Given the description of an element on the screen output the (x, y) to click on. 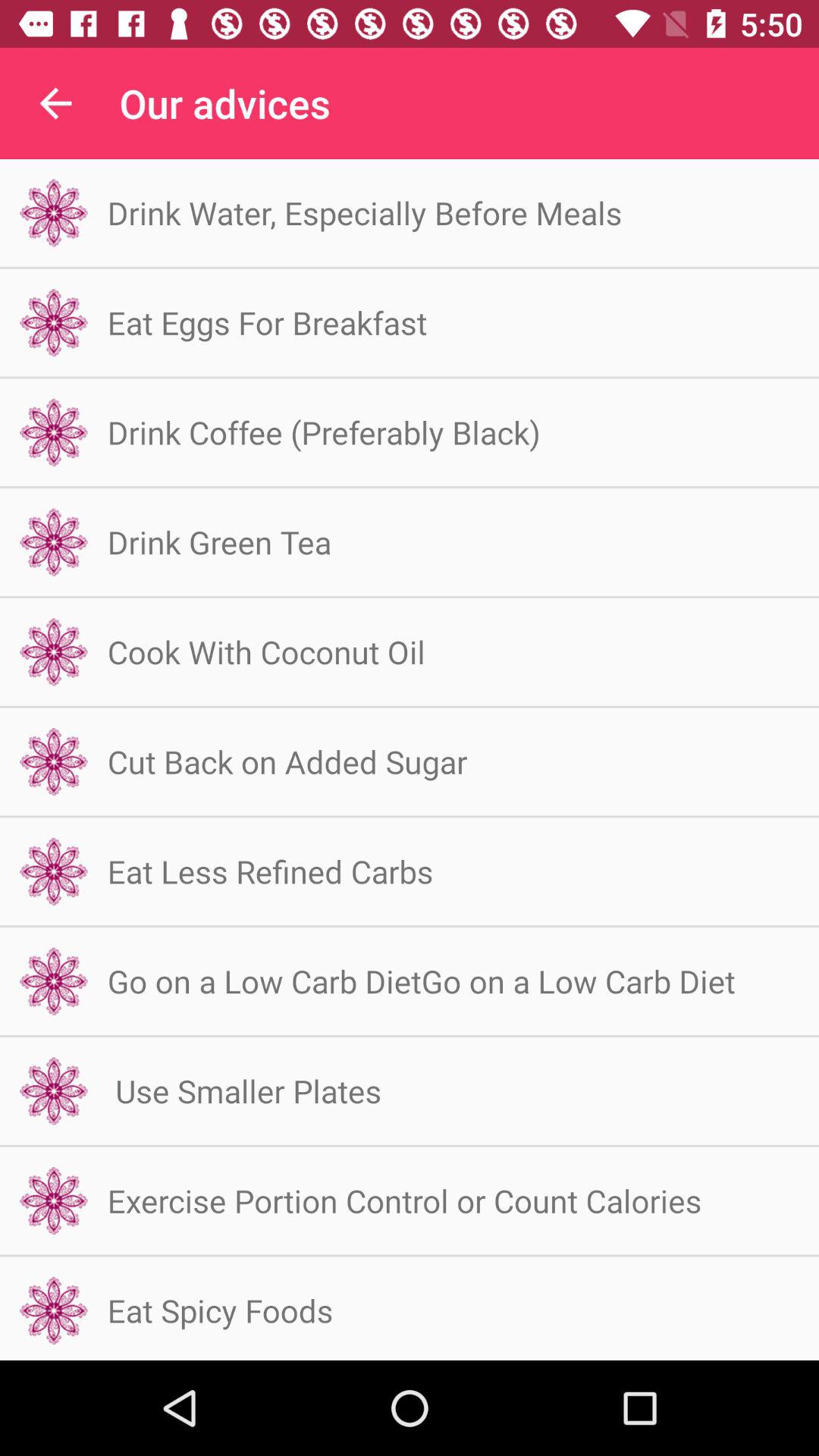
tap the exercise portion control (404, 1200)
